Given the description of an element on the screen output the (x, y) to click on. 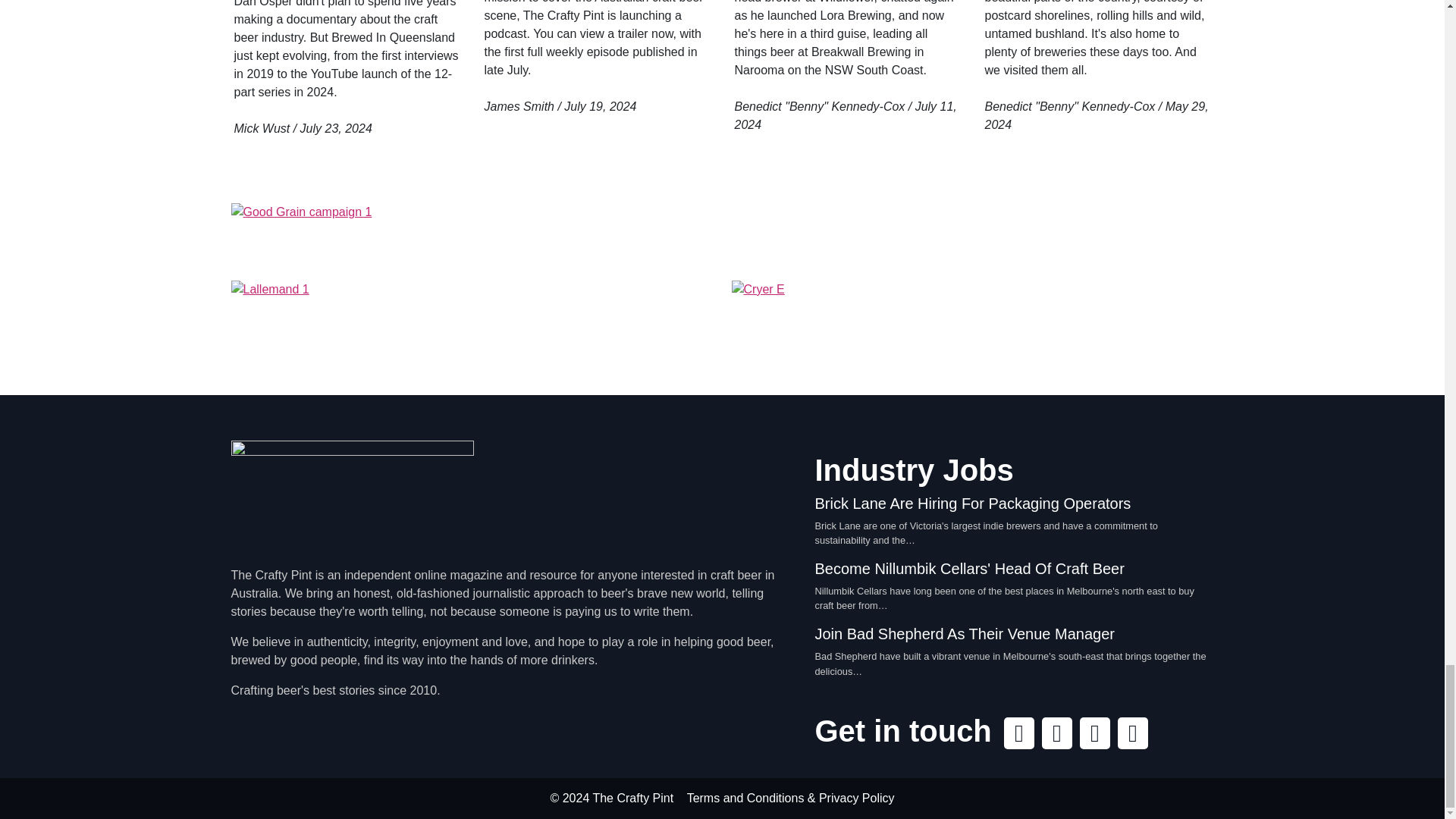
Good Grain campaign 1 (721, 235)
Lallemand 1 (471, 320)
Cryer E (971, 320)
